Given the description of an element on the screen output the (x, y) to click on. 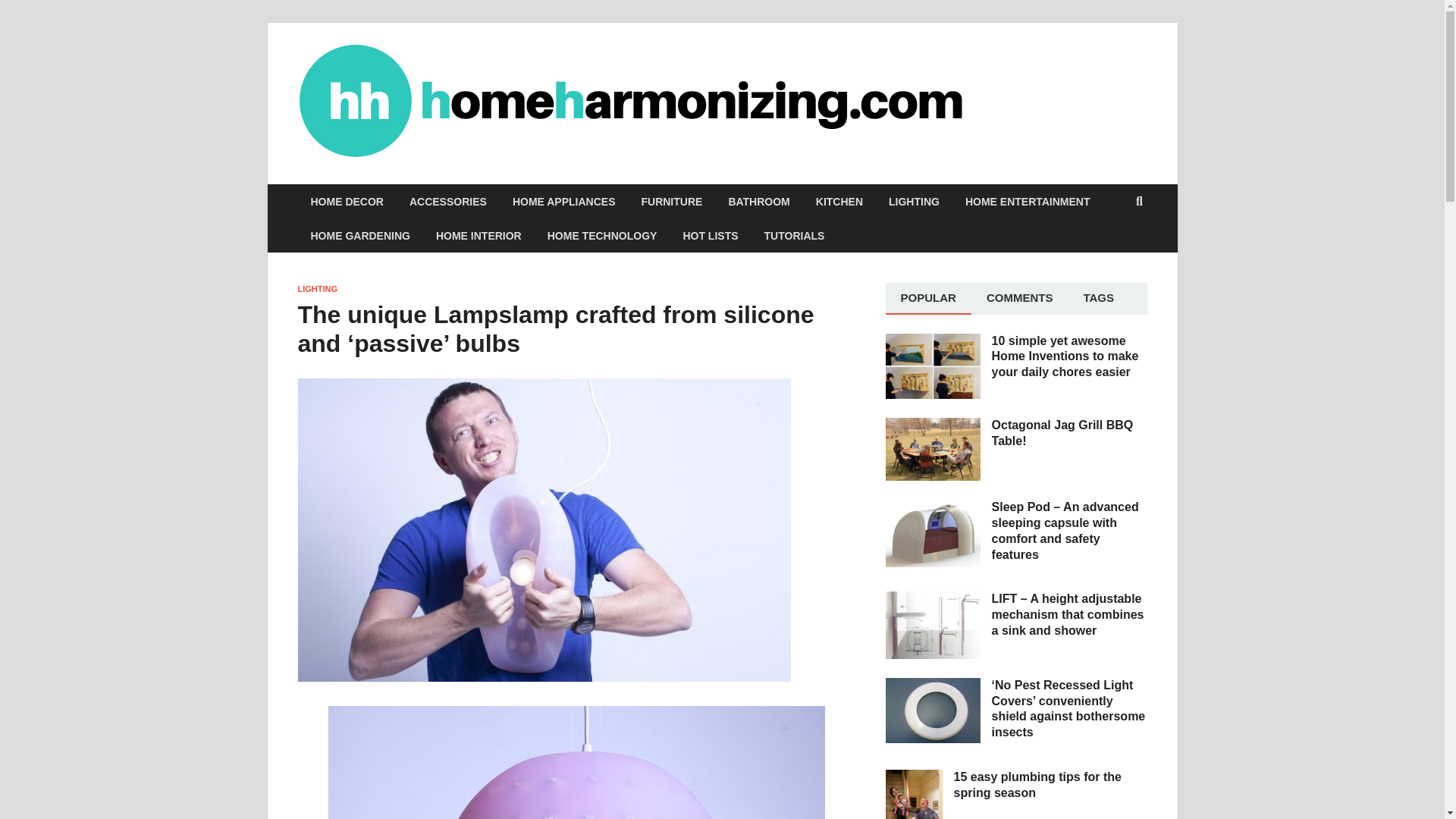
Octagonal Jag Grill BBQ Table! (932, 426)
FURNITURE (670, 201)
LIGHTING (914, 201)
ACCESSORIES (447, 201)
BATHROOM (758, 201)
HOME TECHNOLOGY (601, 235)
HOT LISTS (710, 235)
HOME ENTERTAINMENT (1027, 201)
15 easy plumbing tips for the spring season (913, 778)
HOME APPLIANCES (563, 201)
KITCHEN (839, 201)
LIGHTING (317, 288)
HOME INTERIOR (478, 235)
Home Harmonizing (1076, 91)
